Given the description of an element on the screen output the (x, y) to click on. 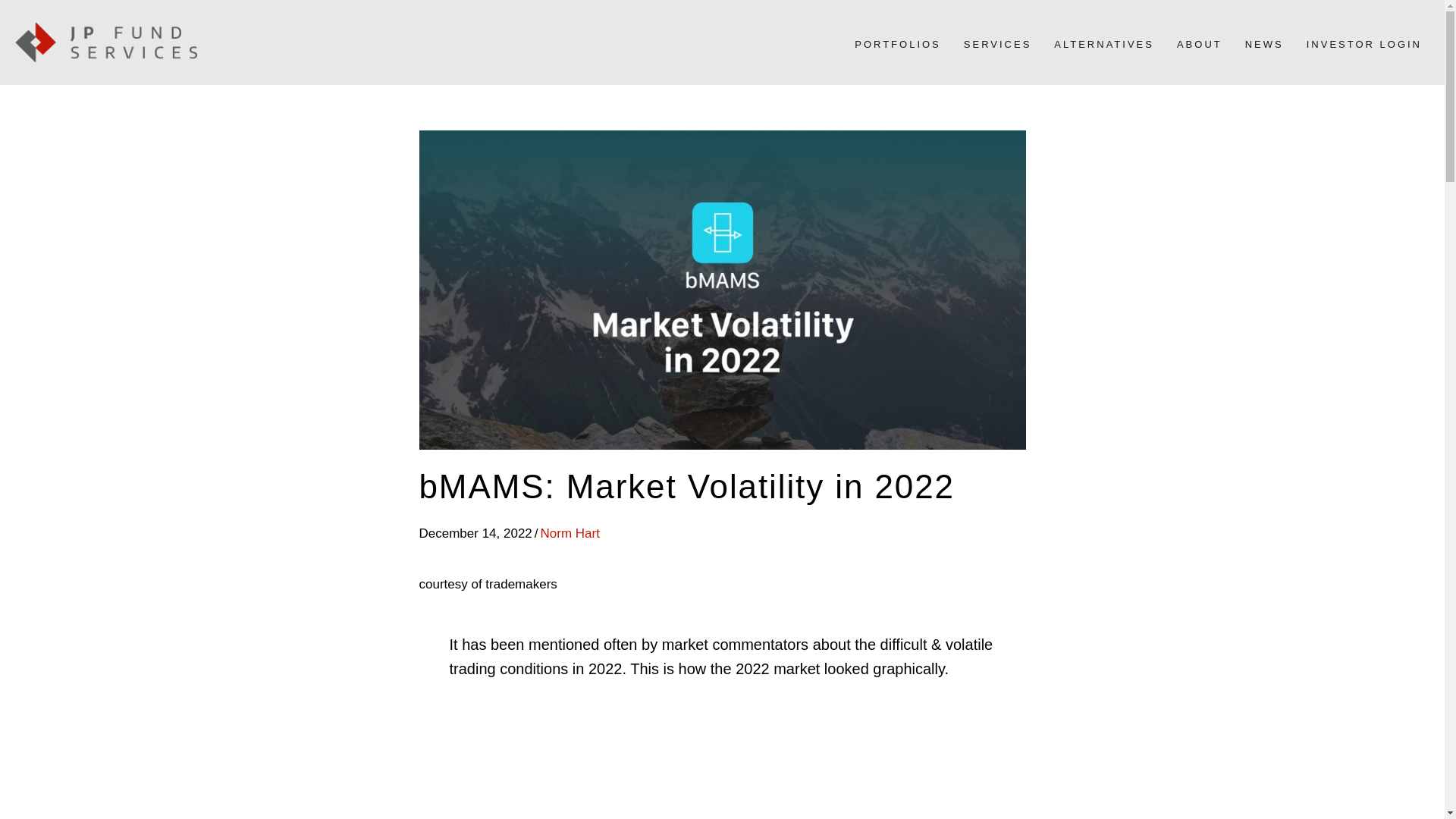
PORTFOLIOS (898, 44)
ABOUT (1199, 44)
ALTERNATIVES (1103, 44)
INVESTOR LOGIN (1363, 44)
SERVICES (997, 44)
Market Volatility in 2022 (721, 772)
Norm Hart (569, 533)
NEWS (1264, 44)
